Given the description of an element on the screen output the (x, y) to click on. 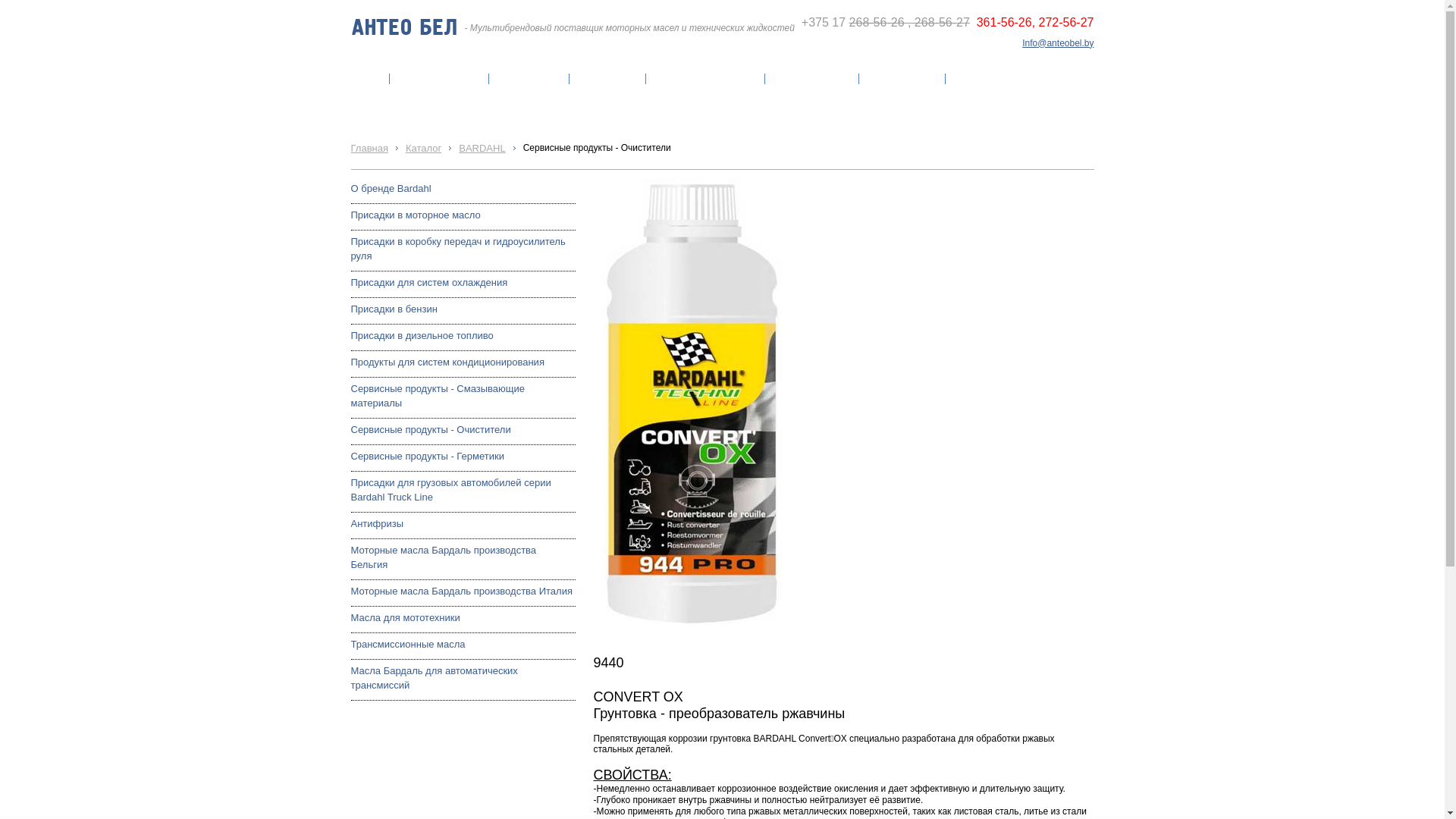
CONVERT OX Element type: hover (690, 404)
BARDAHL Element type: text (481, 147)
